Given the description of an element on the screen output the (x, y) to click on. 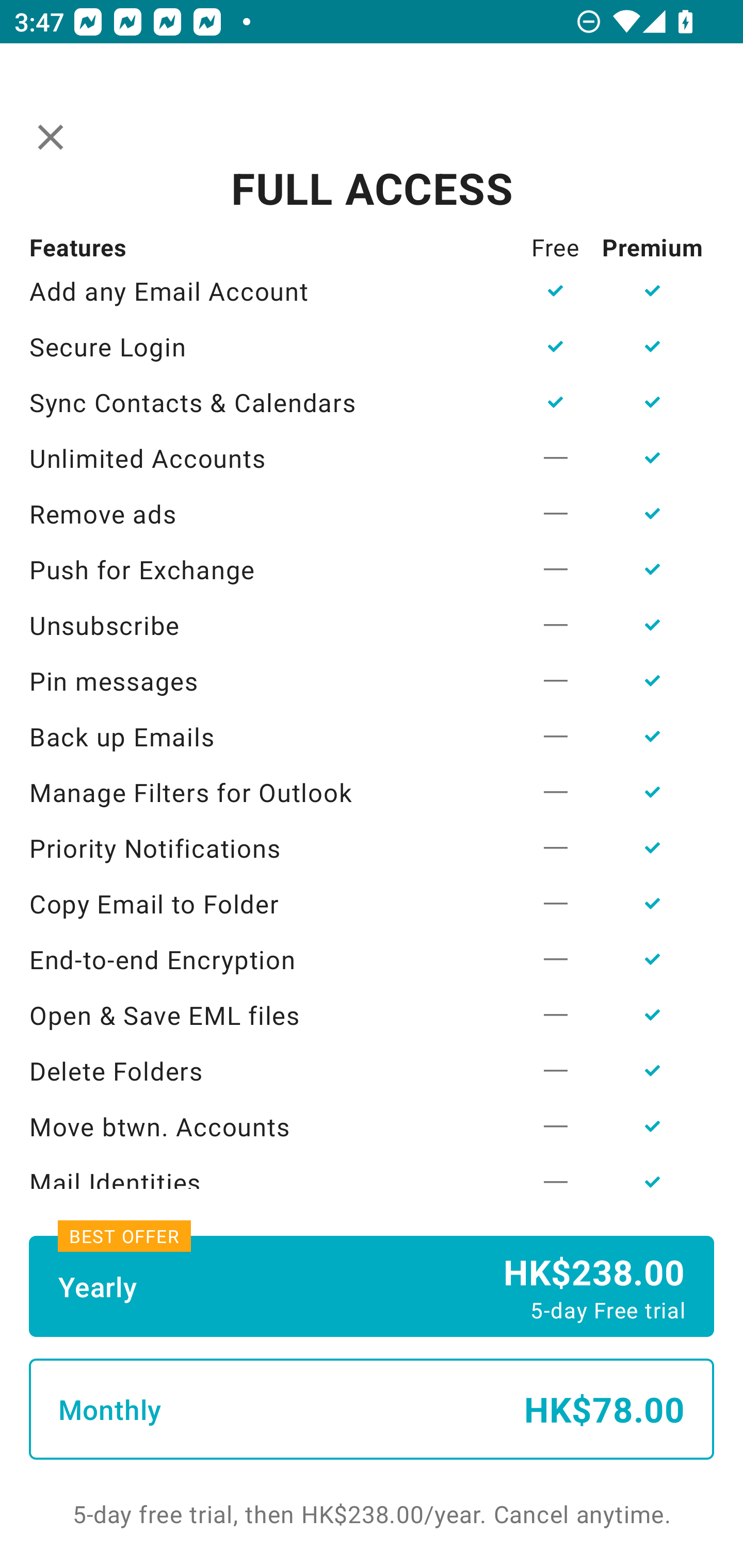
Yearly HK$238.00 5-day Free trial (371, 1286)
Monthly HK$78.00 (371, 1408)
